Given the description of an element on the screen output the (x, y) to click on. 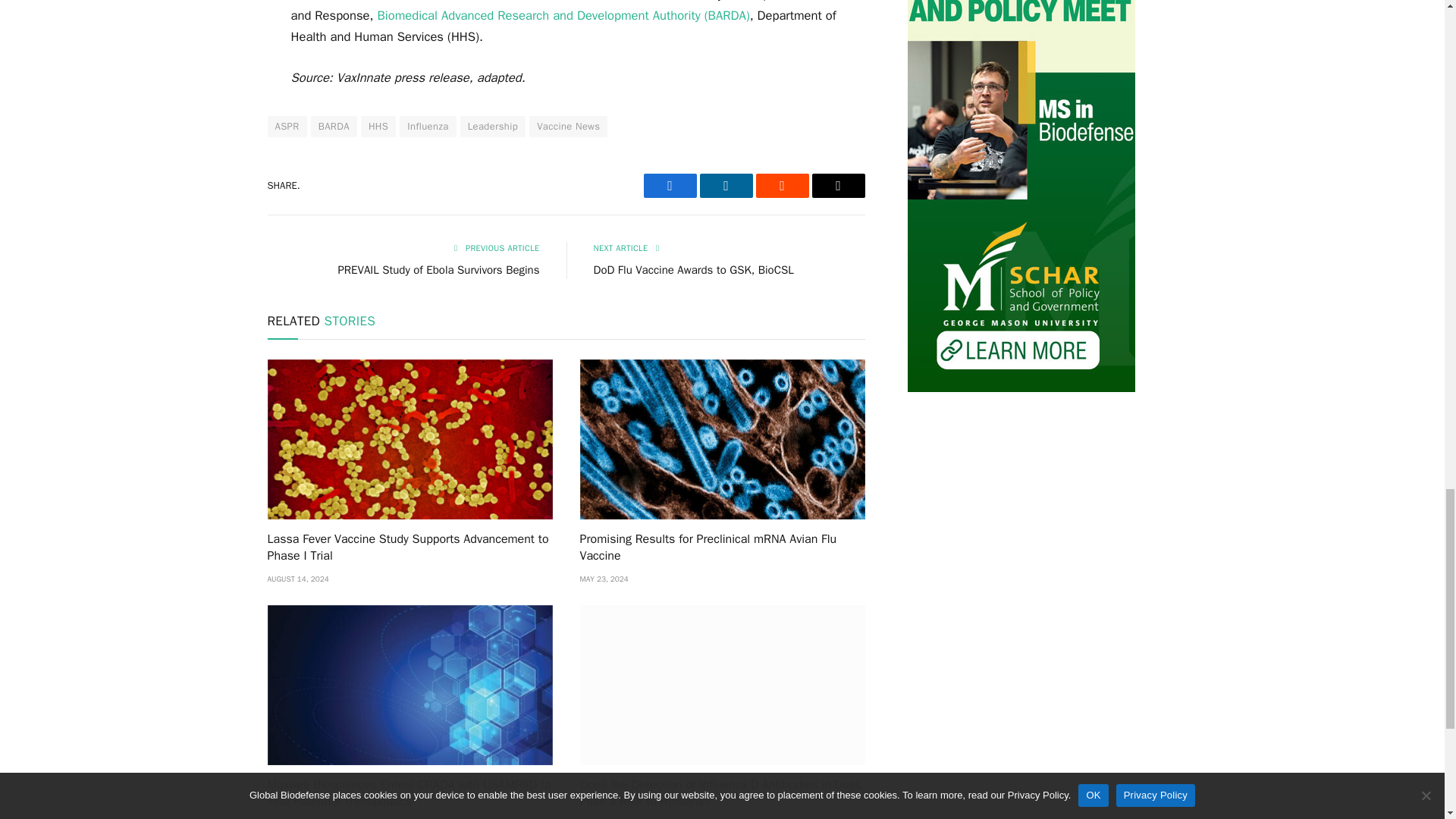
Leadership (492, 126)
BARDA (333, 126)
Facebook (669, 185)
Influenza (426, 126)
Vaccine News (568, 126)
Reddit (781, 185)
HHS (378, 126)
ASPR (285, 126)
Share on Facebook (669, 185)
LinkedIn (725, 185)
